Given the description of an element on the screen output the (x, y) to click on. 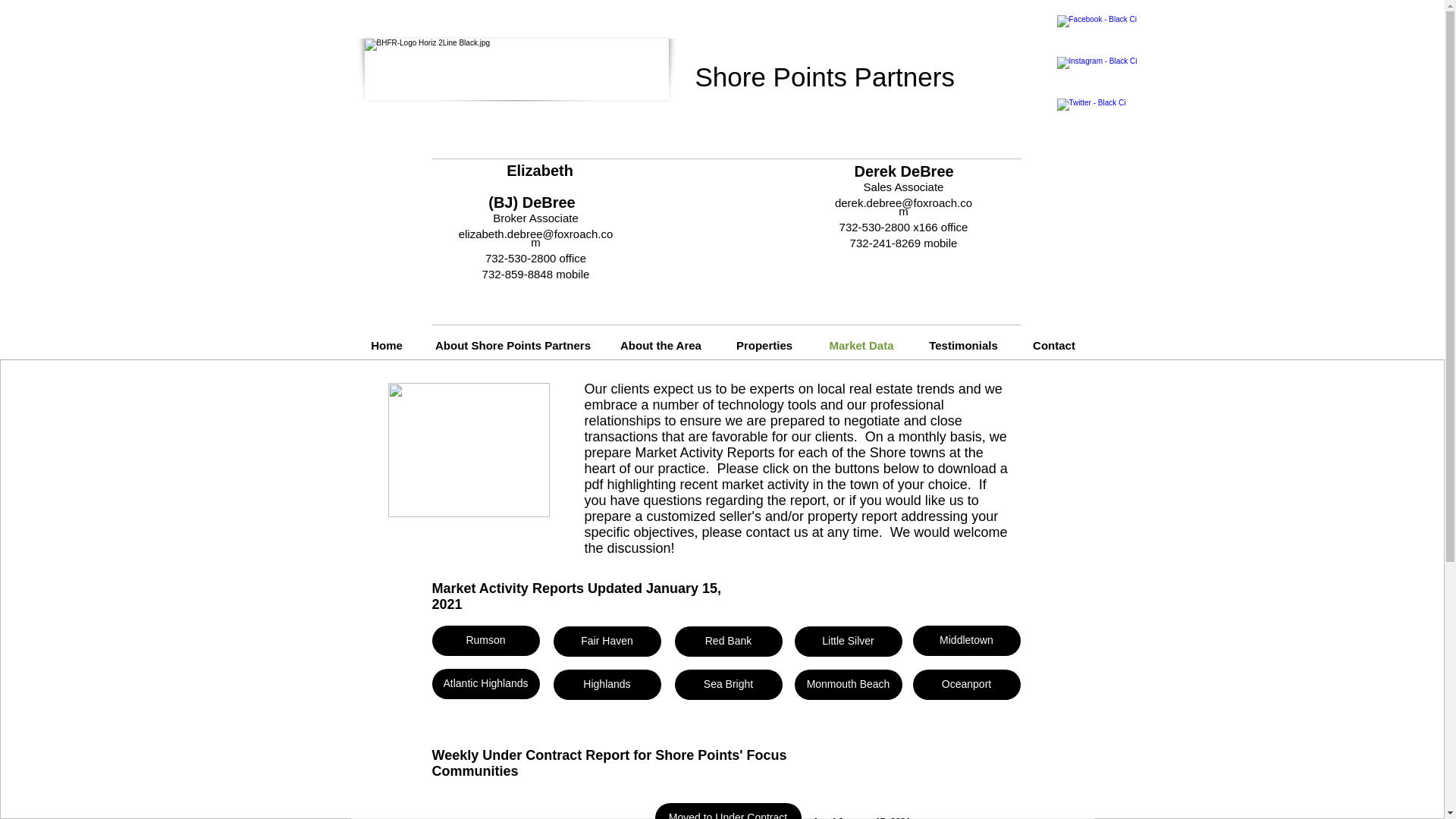
Highlands (607, 684)
Derek DeBree (903, 170)
About the Area (661, 345)
Properties (764, 345)
Moved to Under Contract (728, 811)
rumson bridge.jpg (469, 449)
Little Silver (848, 641)
Middletown (966, 640)
Fair Haven (607, 641)
Testimonials (963, 345)
Oceanport (966, 684)
About Shore Points Partners (513, 345)
Market Data (860, 345)
Home (386, 345)
Atlantic Highlands (486, 684)
